Given the description of an element on the screen output the (x, y) to click on. 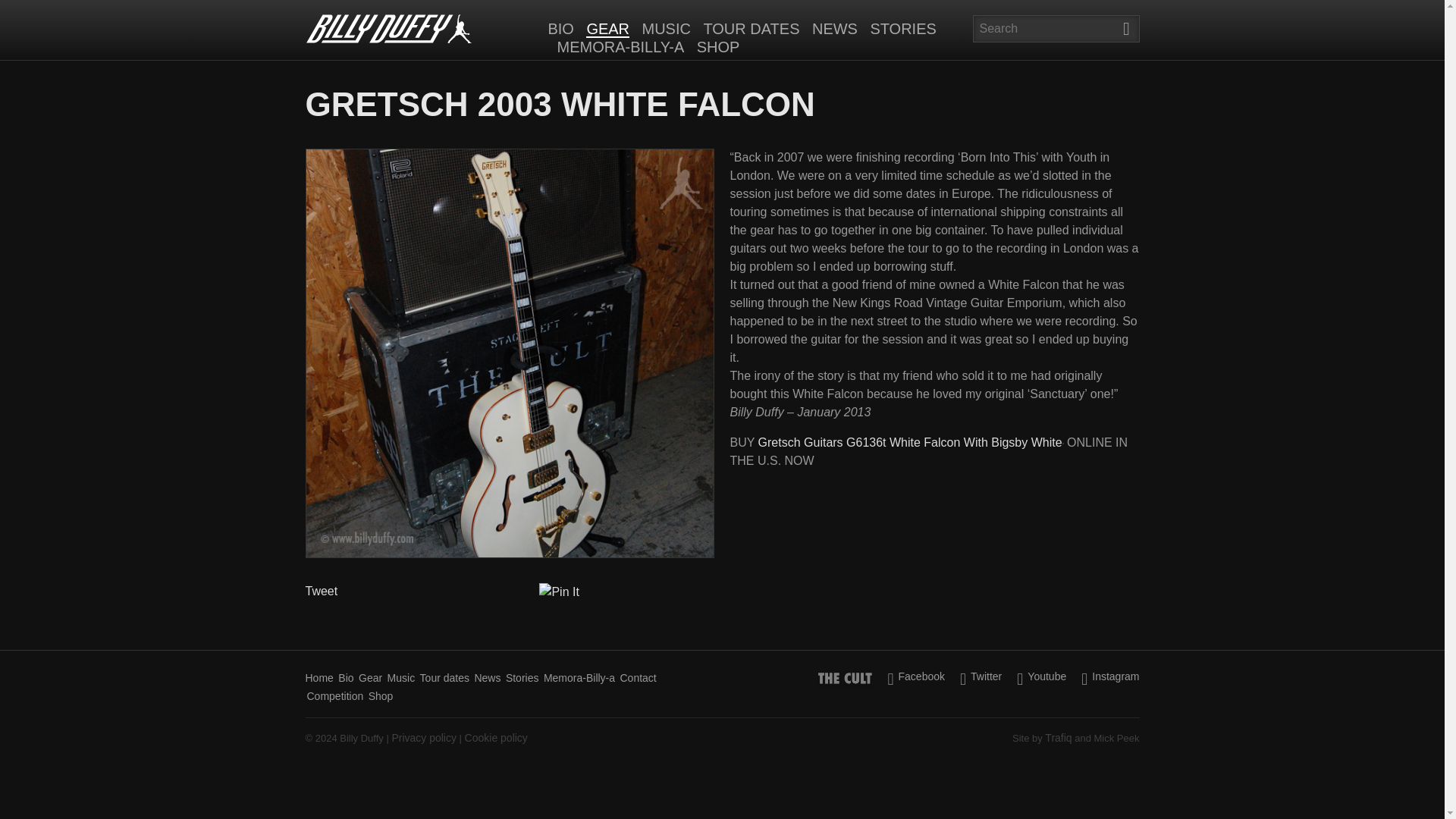
Music (400, 677)
Facebook (915, 678)
Pin It (558, 592)
Gear (369, 677)
NEWS (834, 28)
Gretsch Guitars G6136t White Falcon With Bigsby White (910, 441)
Search (1125, 28)
SHOP (718, 46)
TOUR DATES (751, 28)
BIO (560, 28)
Billy Duffy (387, 29)
Tweet (320, 590)
STORIES (902, 28)
Stories (521, 677)
Memora-Billy-a (578, 677)
